Given the description of an element on the screen output the (x, y) to click on. 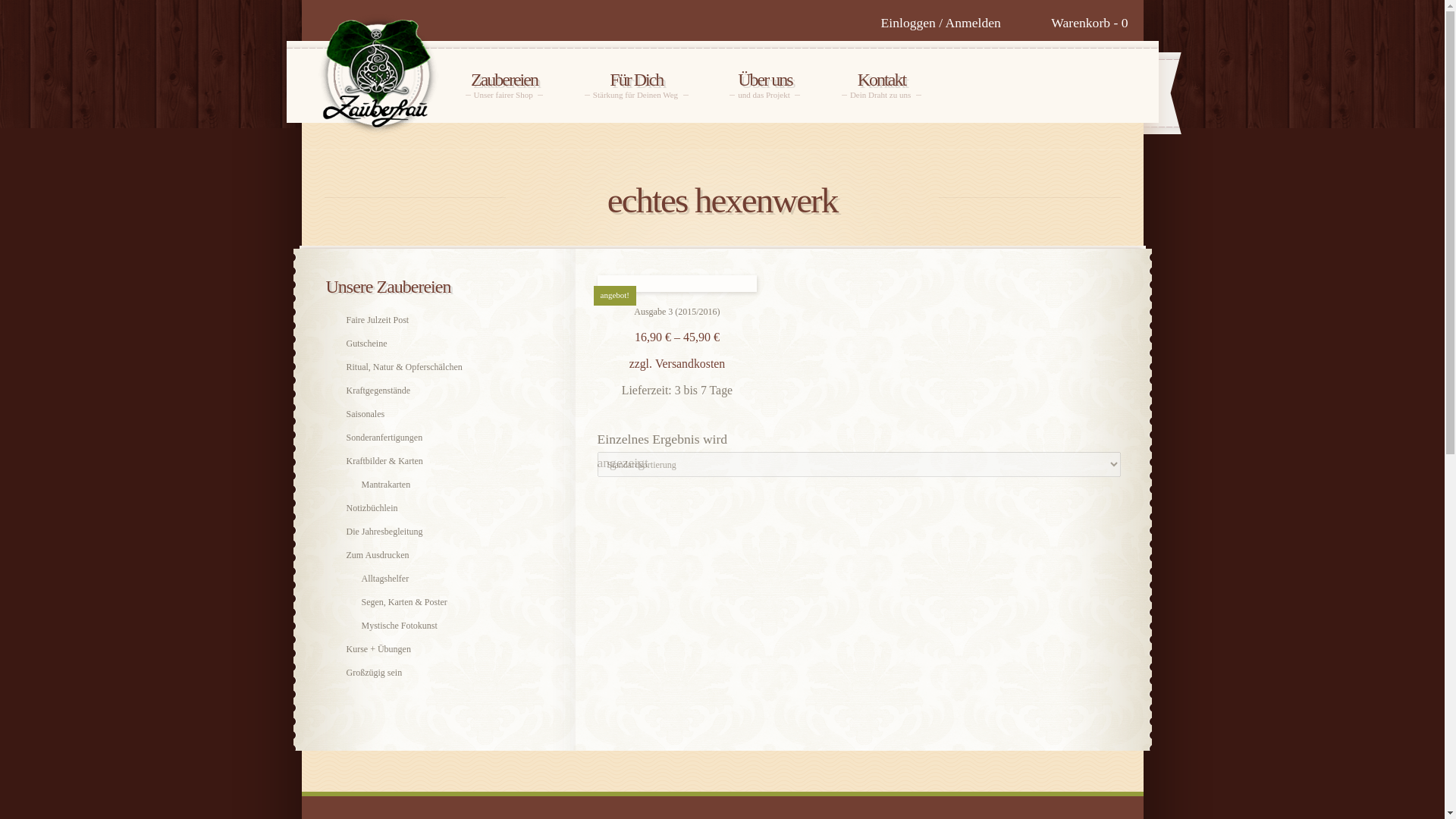
Faire Julzeit Post (437, 319)
Mystische Fotokunst (881, 83)
Die Jahresbegleitung (445, 625)
Sonderanfertigungen (437, 530)
Saisonales (504, 83)
Zum Ausdrucken (437, 436)
Alltagshelfer (437, 413)
angebot! (437, 554)
Versandkosten (445, 577)
Mantrakarten (676, 283)
Gutscheine (690, 363)
zzgl. (445, 484)
